Given the description of an element on the screen output the (x, y) to click on. 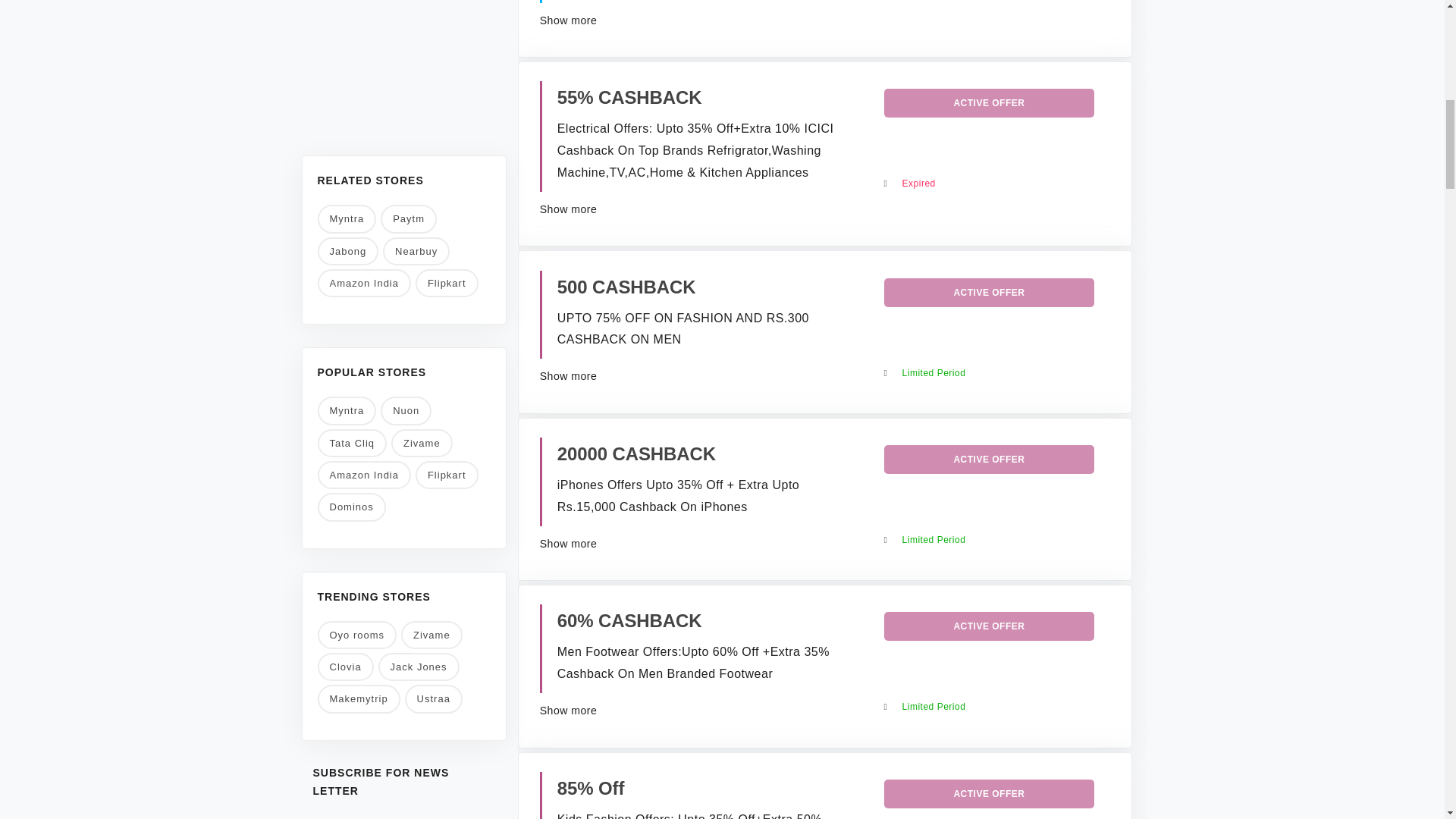
ACTIVE OFFER (988, 793)
500 CASHBACK (626, 286)
ACTIVE OFFER (988, 102)
ACTIVE OFFER (988, 459)
ACTIVE OFFER (988, 625)
ACTIVE OFFER (988, 292)
20000 CASHBACK (636, 453)
